Given the description of an element on the screen output the (x, y) to click on. 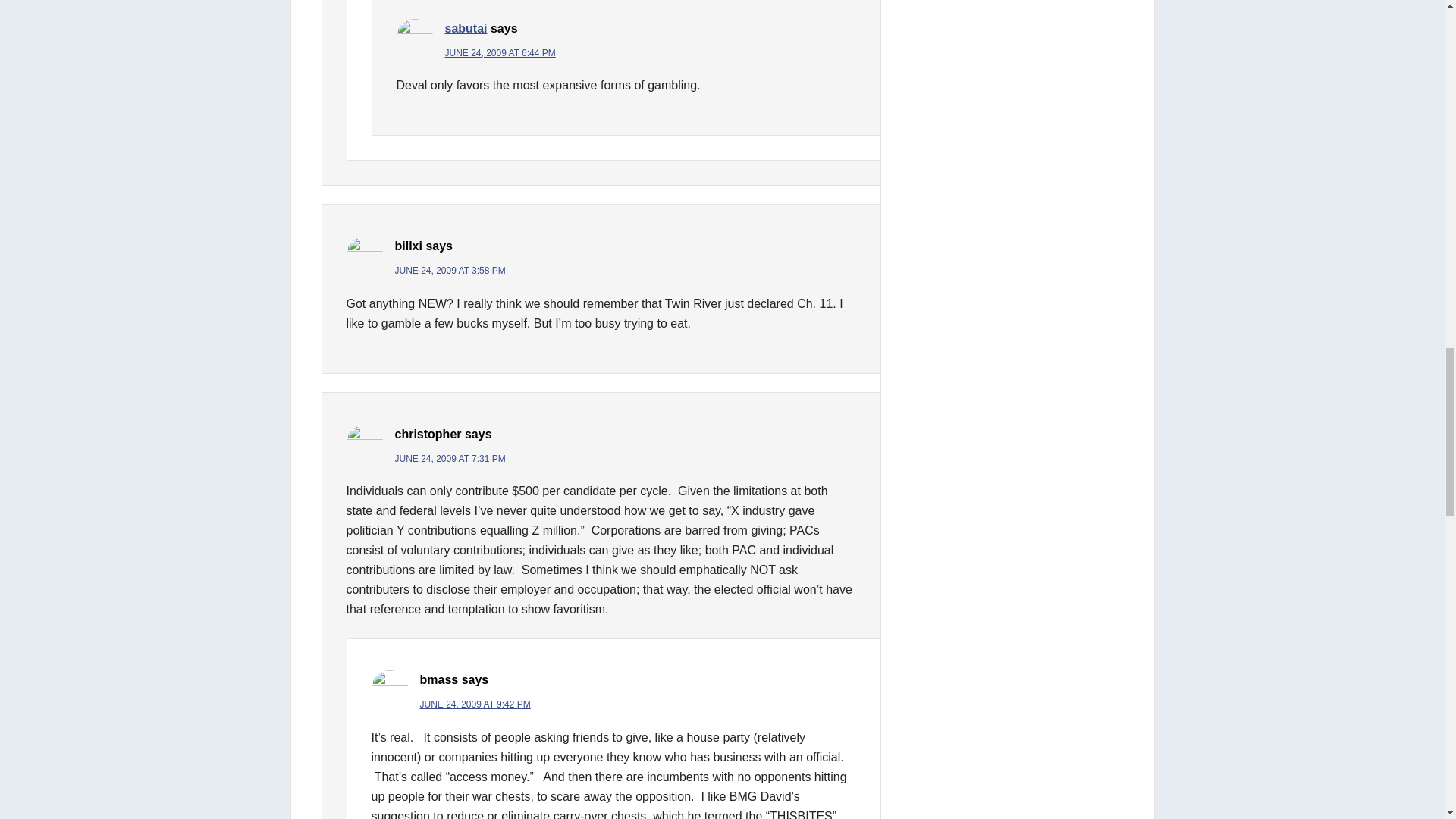
JUNE 24, 2009 AT 3:58 PM (449, 270)
JUNE 24, 2009 AT 7:31 PM (449, 458)
JUNE 24, 2009 AT 6:44 PM (499, 52)
sabutai (465, 28)
JUNE 24, 2009 AT 9:42 PM (475, 704)
